Given the description of an element on the screen output the (x, y) to click on. 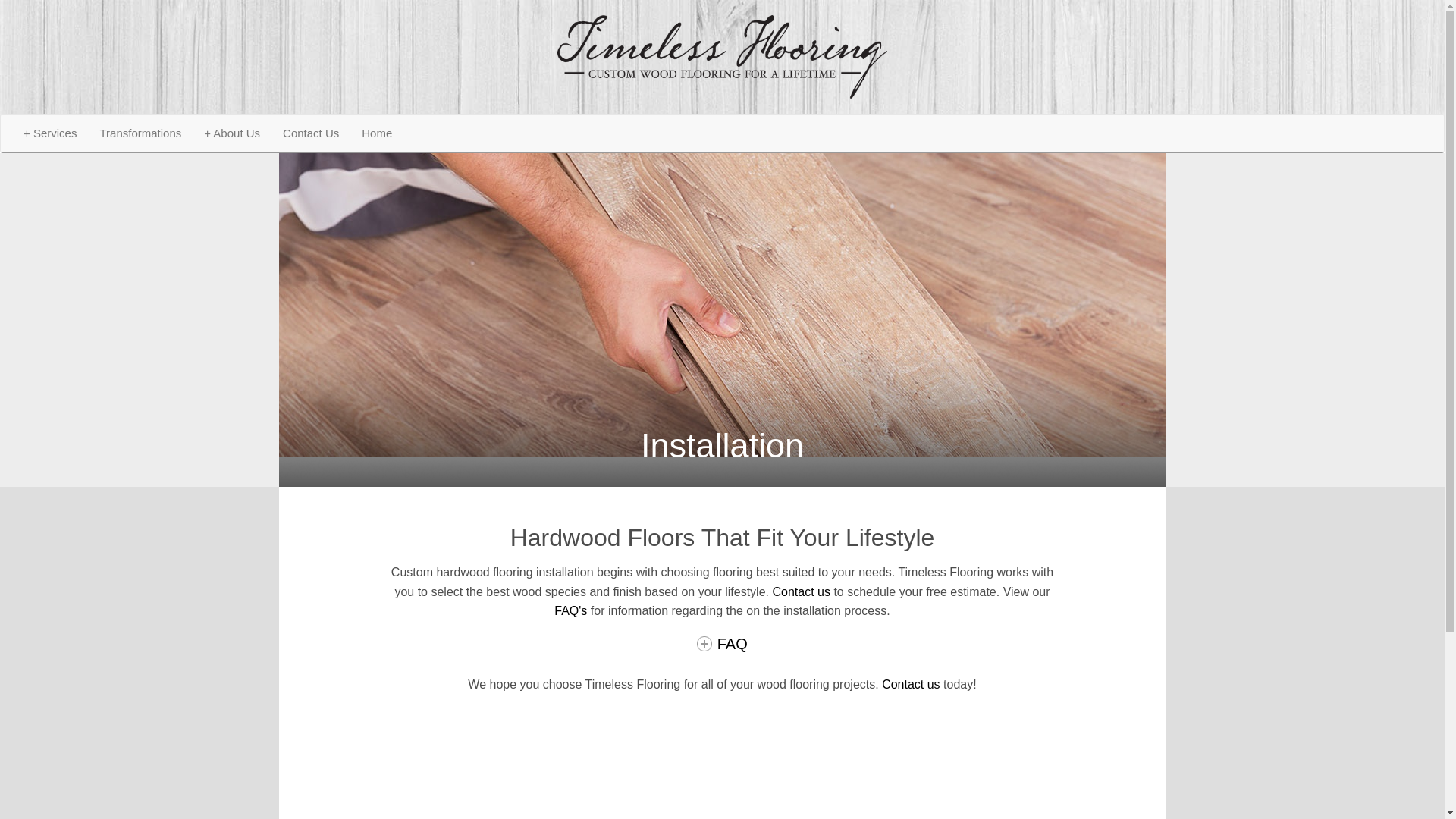
FAQ (722, 643)
Contact us (910, 684)
Home (376, 133)
FAQ's (570, 610)
Contact us (800, 591)
Transformations (139, 133)
Contact Us (310, 133)
